Given the description of an element on the screen output the (x, y) to click on. 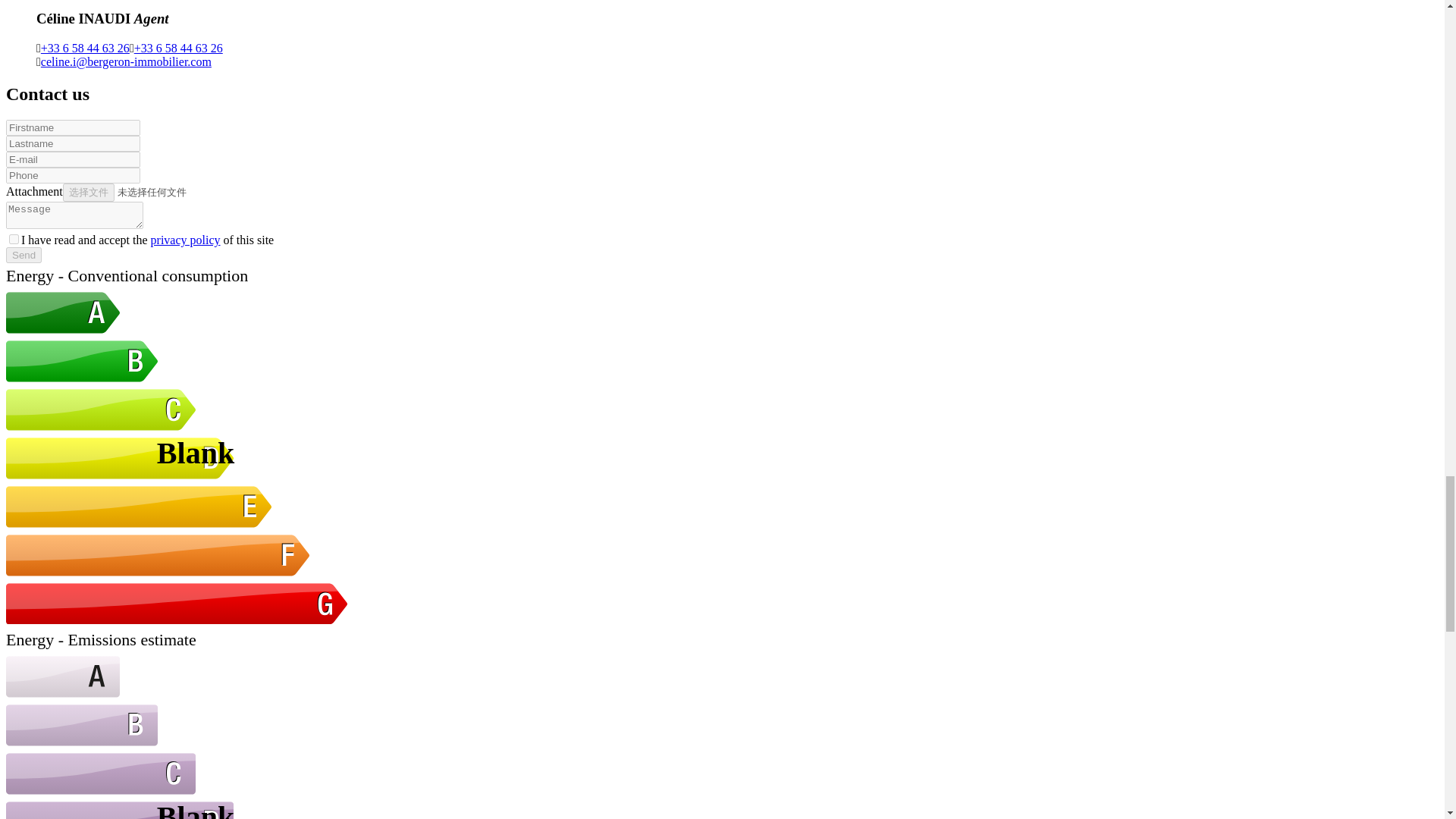
on (228, 723)
